Given the description of an element on the screen output the (x, y) to click on. 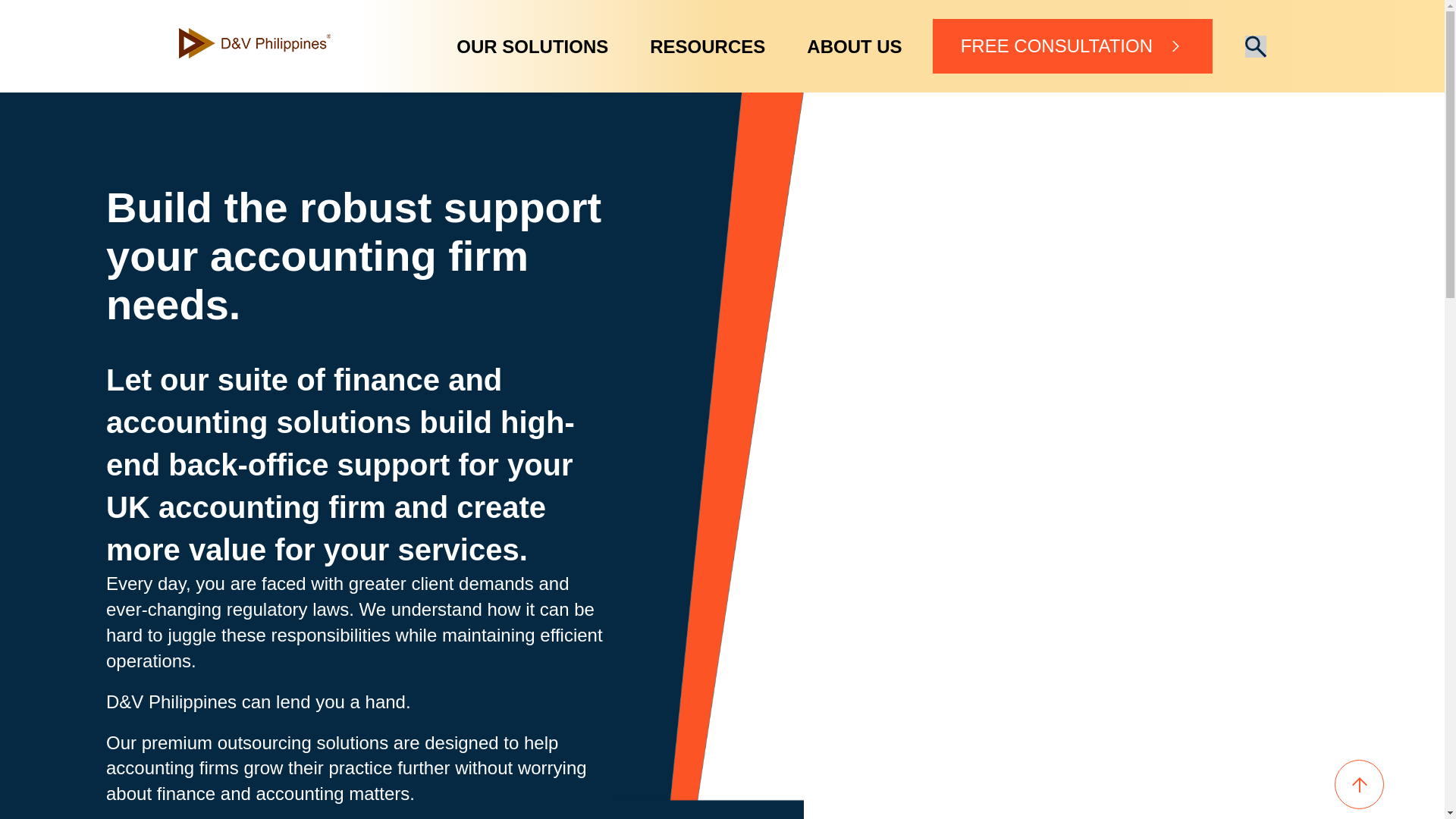
OUR SOLUTIONS (532, 46)
Submit (1255, 45)
FREE CONSULTATION (1072, 45)
Go to top (1359, 785)
ABOUT US (853, 46)
RESOURCES (707, 46)
